Given the description of an element on the screen output the (x, y) to click on. 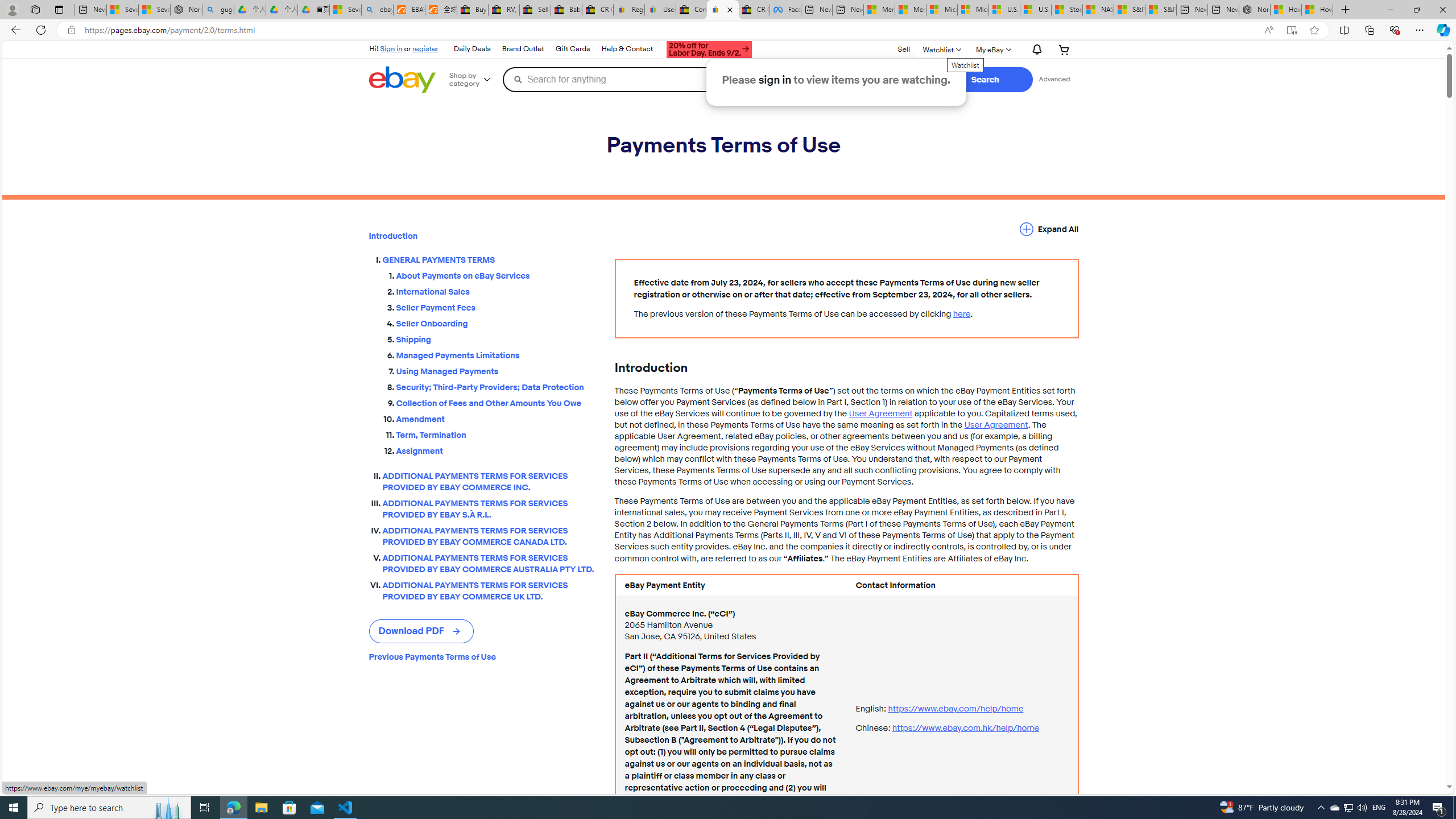
Daily Deals (472, 49)
Sign in (391, 48)
AutomationID: gh-ti (707, 47)
Register: Create a personal eBay account (628, 9)
Baby Keepsakes & Announcements for sale | eBay (566, 9)
International Sales (496, 289)
Seller Payment Fees (496, 307)
sign in (775, 79)
How to Use a Monitor With Your Closed Laptop (1317, 9)
Managed Payments Limitations (496, 353)
